Given the description of an element on the screen output the (x, y) to click on. 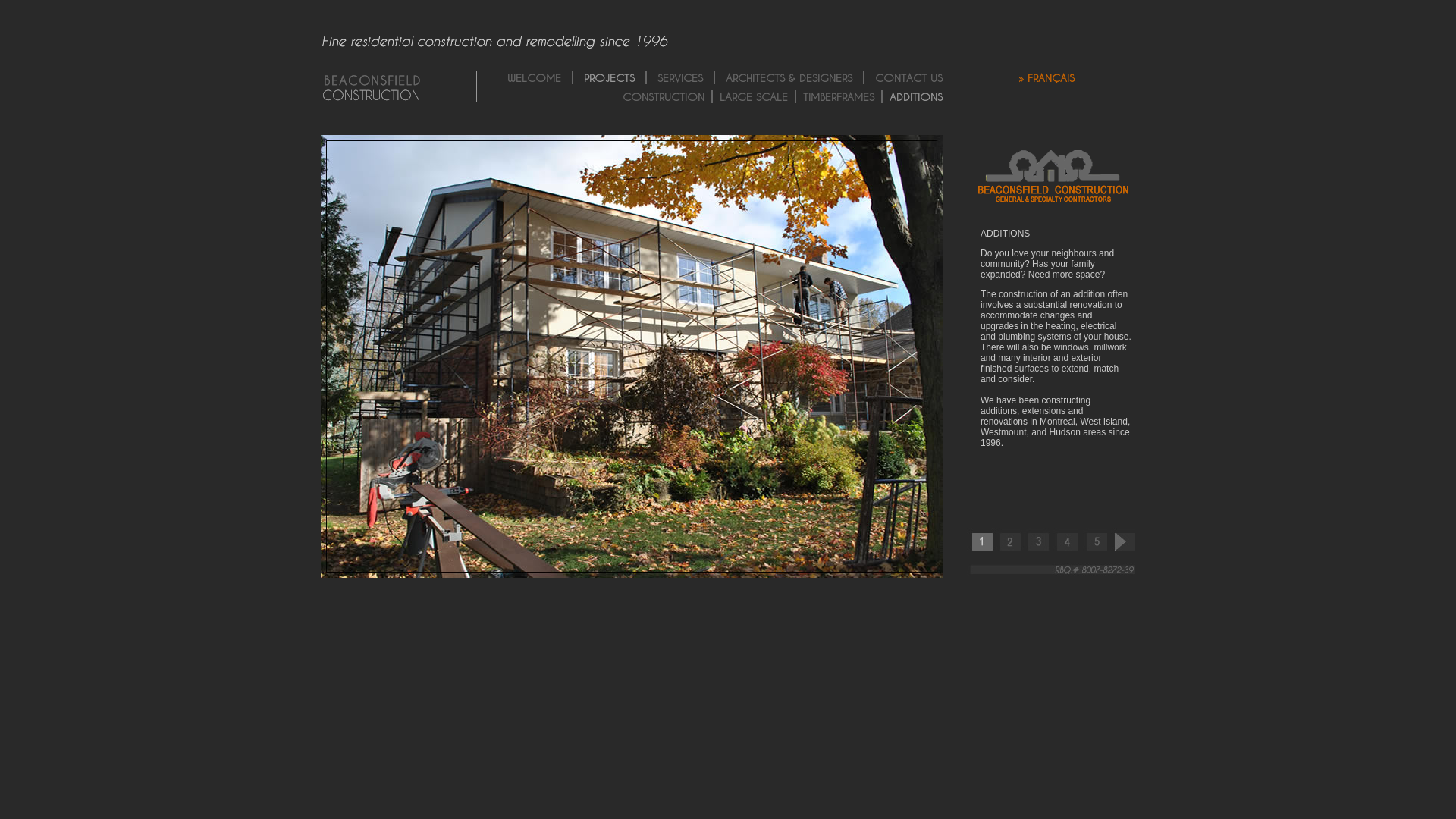
CONSTRUCTION Element type: text (663, 96)
LARGE SCALE Element type: text (753, 96)
ADDITIONS Element type: text (915, 96)
TIMBERFRAMES Element type: text (838, 96)
SERVICES Element type: text (679, 77)
CONTACT US Element type: text (908, 77)
ARCHITECTS & DESIGNERS Element type: text (788, 77)
PROJECTS Element type: text (608, 77)
WELCOME Element type: text (534, 77)
